Given the description of an element on the screen output the (x, y) to click on. 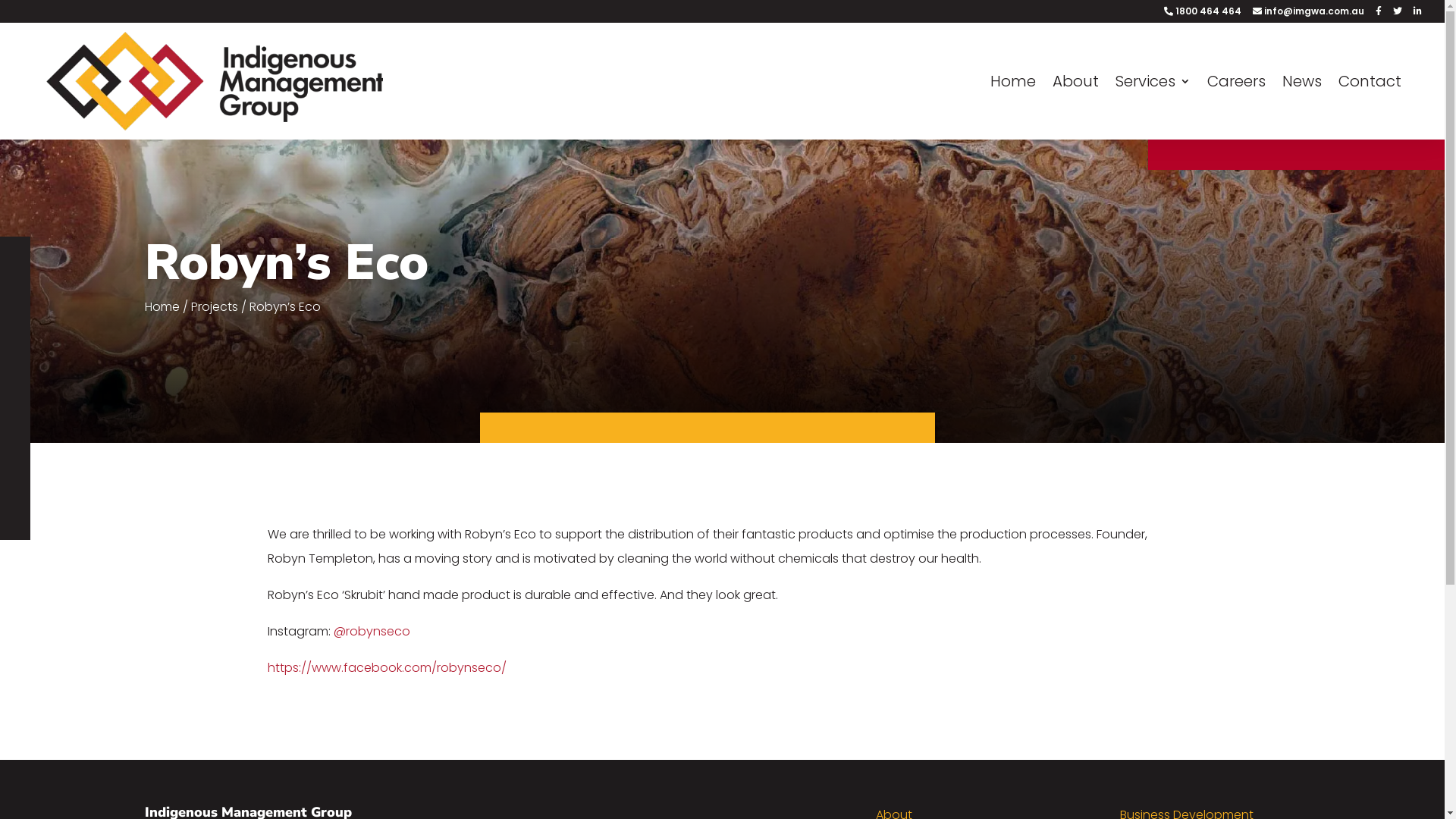
Careers Element type: text (1236, 107)
Services Element type: text (1152, 107)
info@imgwa.com.au Element type: text (1308, 14)
About Element type: text (1075, 107)
Contact Element type: text (1369, 107)
Projects Element type: text (214, 306)
Home Element type: text (1012, 107)
1800 464 464 Element type: text (1202, 14)
Home Element type: text (161, 306)
https://www.facebook.com/robynseco/ Element type: text (385, 667)
News Element type: text (1301, 107)
@robynseco Element type: text (371, 631)
